Given the description of an element on the screen output the (x, y) to click on. 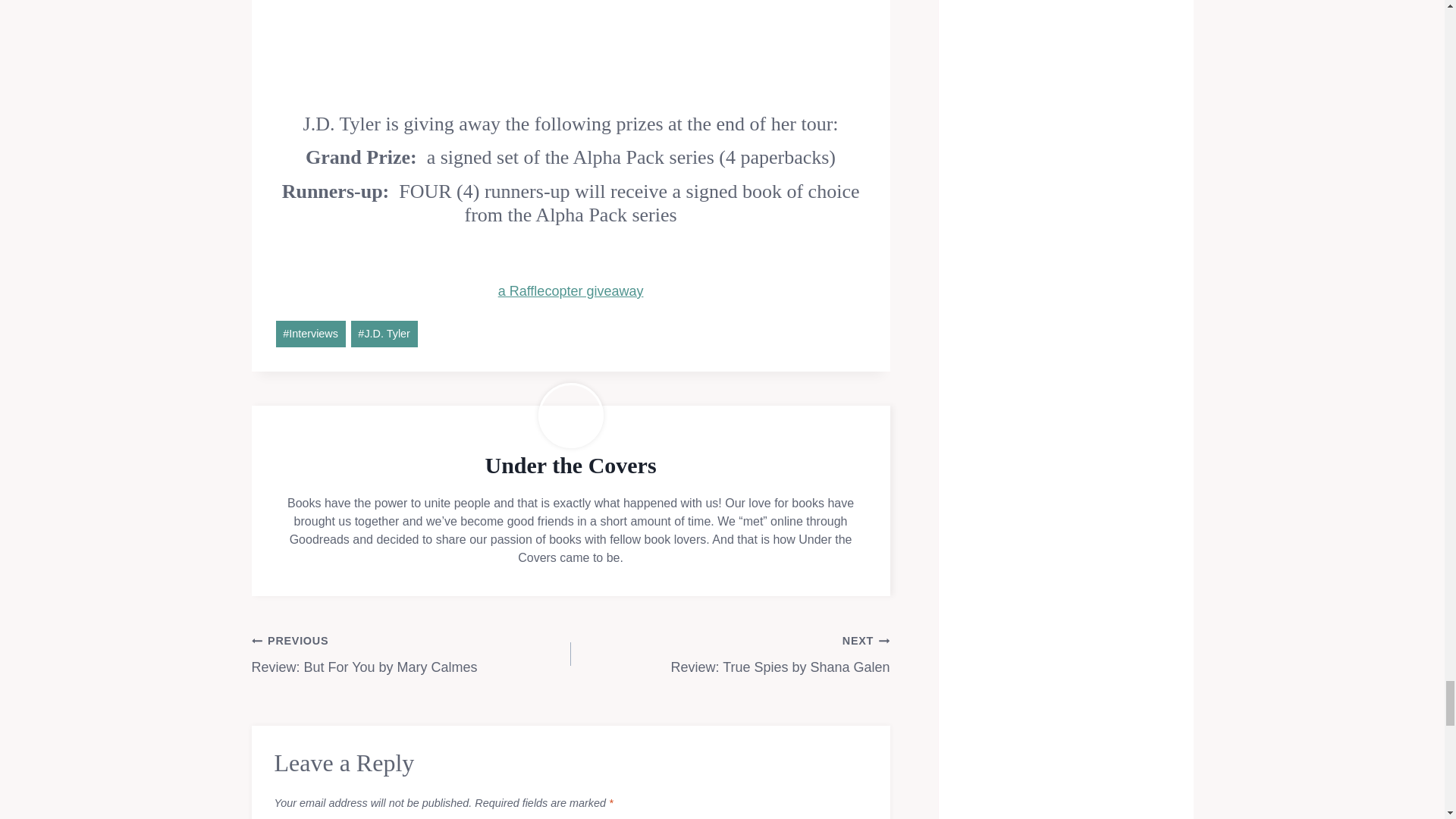
Interviews (311, 334)
J.D. Tyler (383, 334)
Posts by Under the Covers (570, 464)
